Given the description of an element on the screen output the (x, y) to click on. 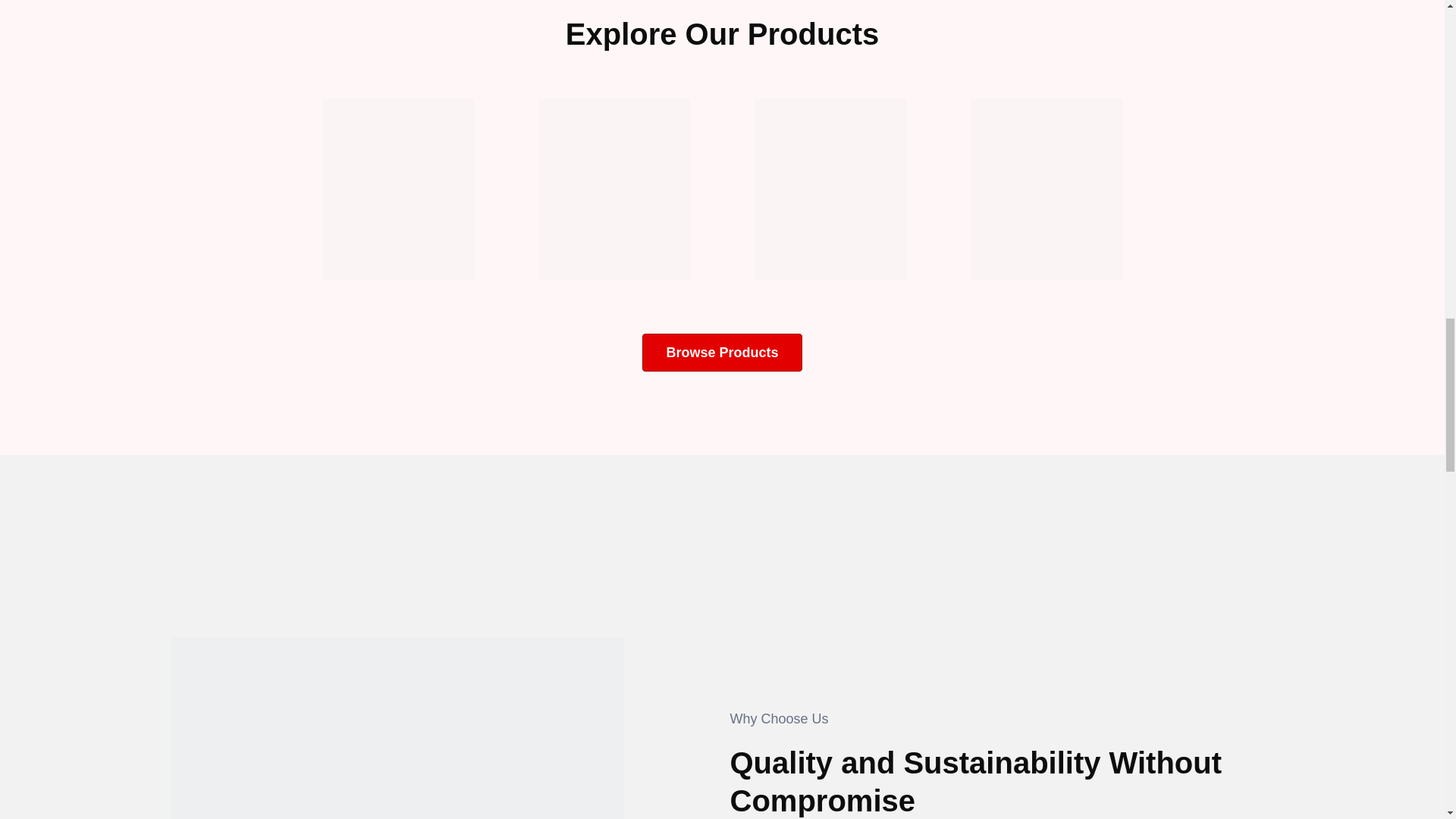
Browse Products (722, 352)
